Given the description of an element on the screen output the (x, y) to click on. 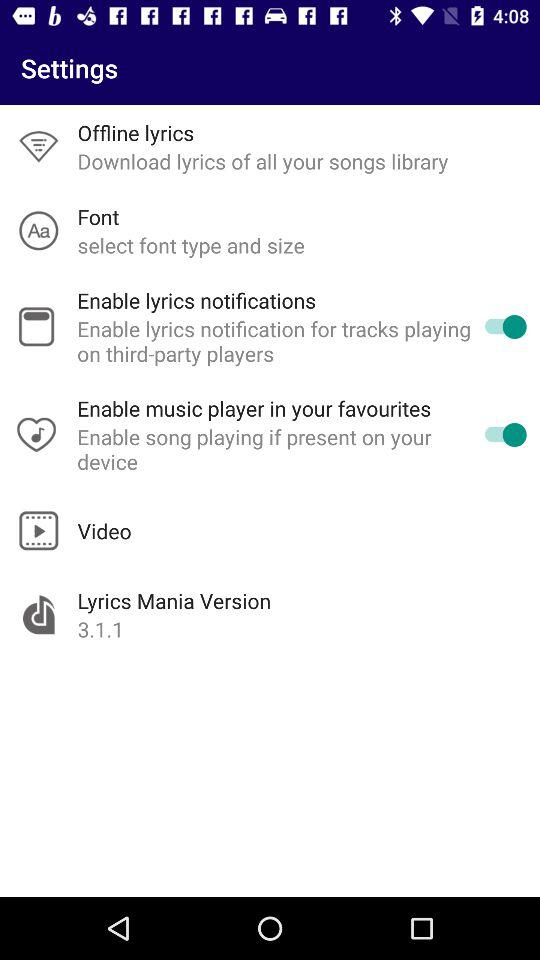
turn on the icon below the settings (135, 132)
